Given the description of an element on the screen output the (x, y) to click on. 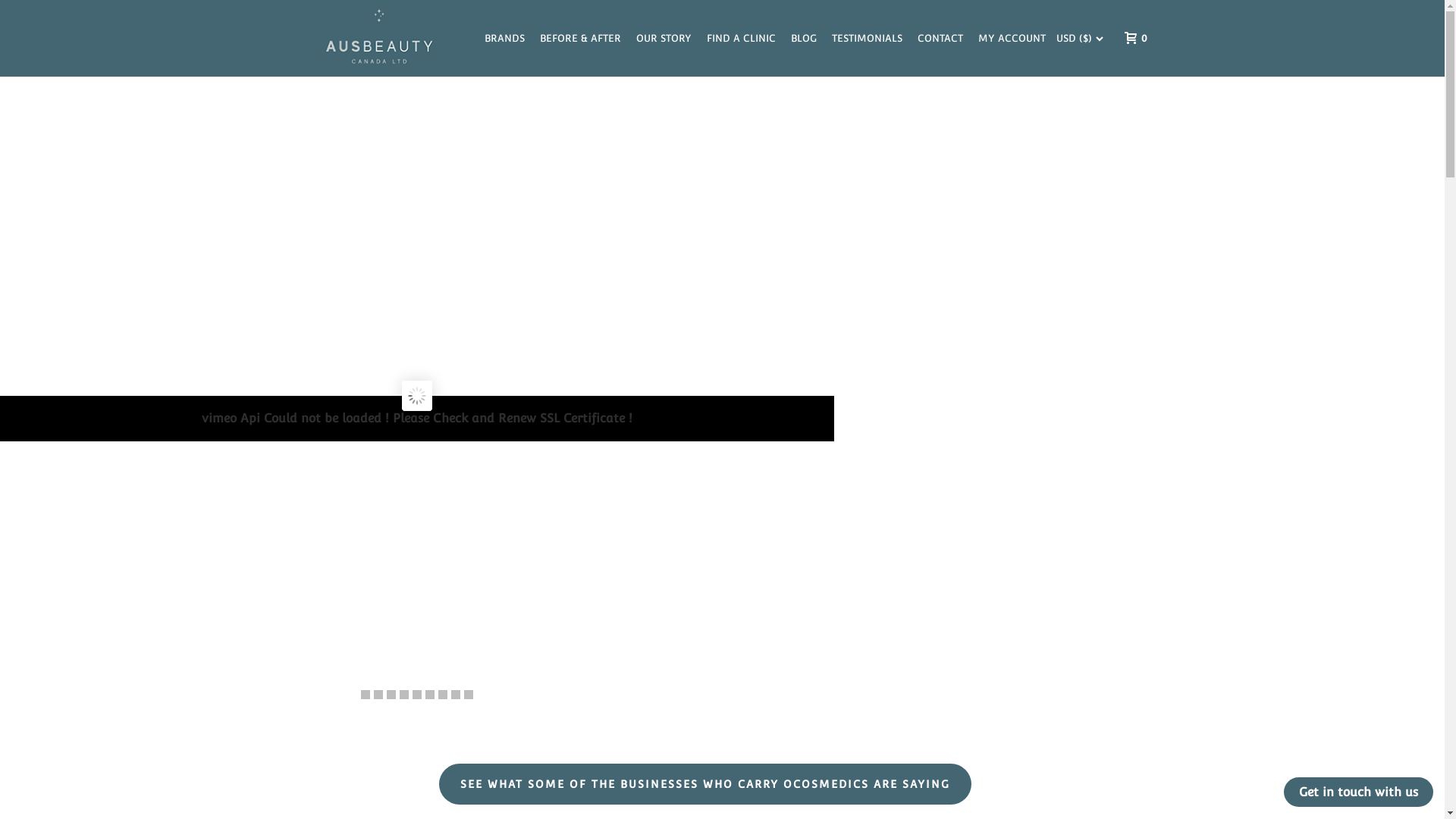
BRANDS Element type: text (503, 38)
FIND A CLINIC Element type: text (741, 38)
CONTACT Element type: text (940, 38)
Get in touch with us Element type: text (1358, 791)
OUR STORY Element type: text (662, 38)
MY ACCOUNT Element type: text (1011, 38)
0 Element type: text (1131, 37)
BEFORE & AFTER Element type: text (580, 38)
BLOG Element type: text (802, 38)
TESTIMONIALS Element type: text (866, 38)
